Given the description of an element on the screen output the (x, y) to click on. 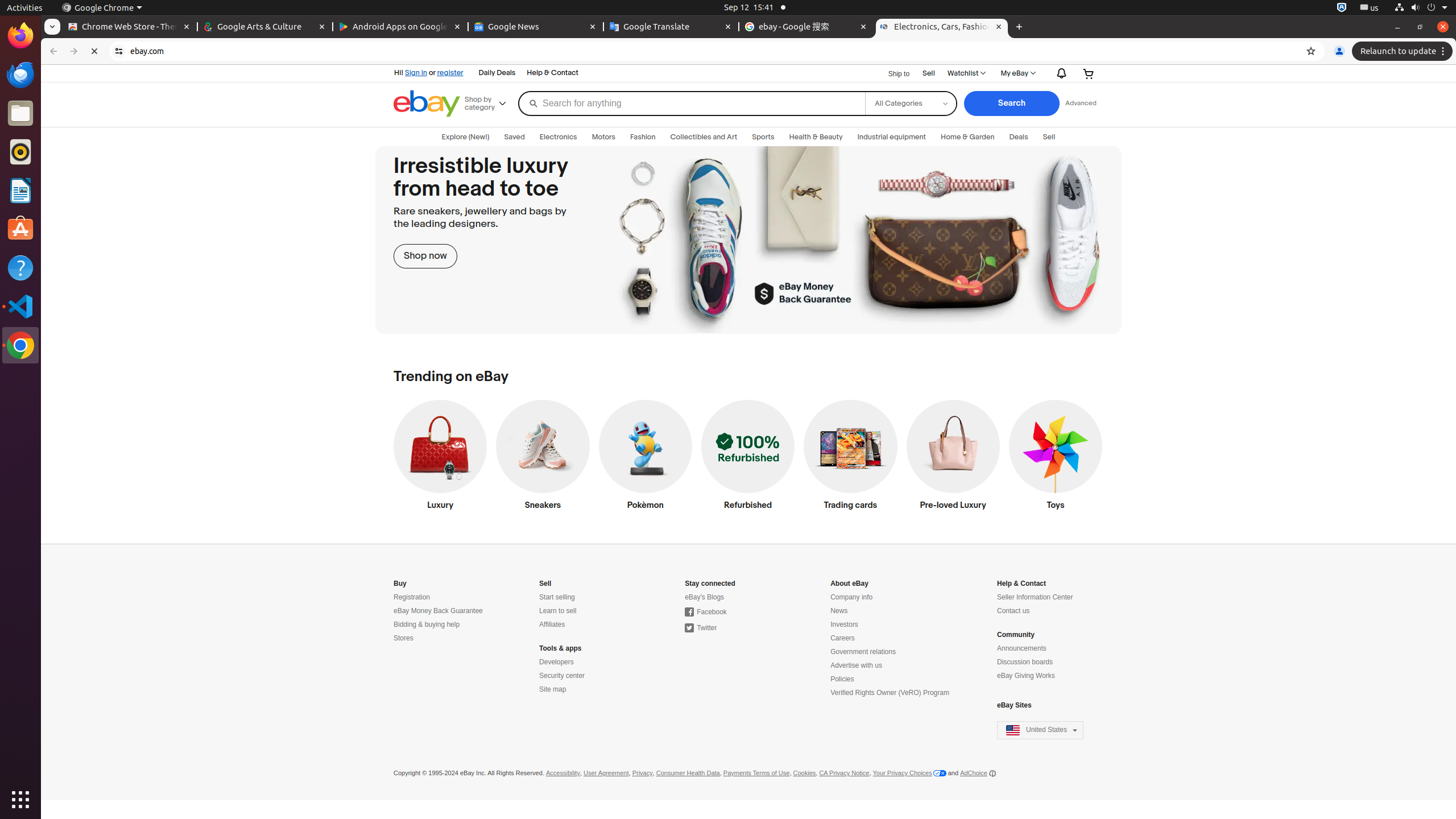
Stores Element type: link (403, 638)
CA Privacy Notice Element type: link (844, 773)
Notifications Element type: push-button (1058, 73)
Industrial equipment Element type: link (891, 136)
Watchlist Element type: link (965, 73)
